Given the description of an element on the screen output the (x, y) to click on. 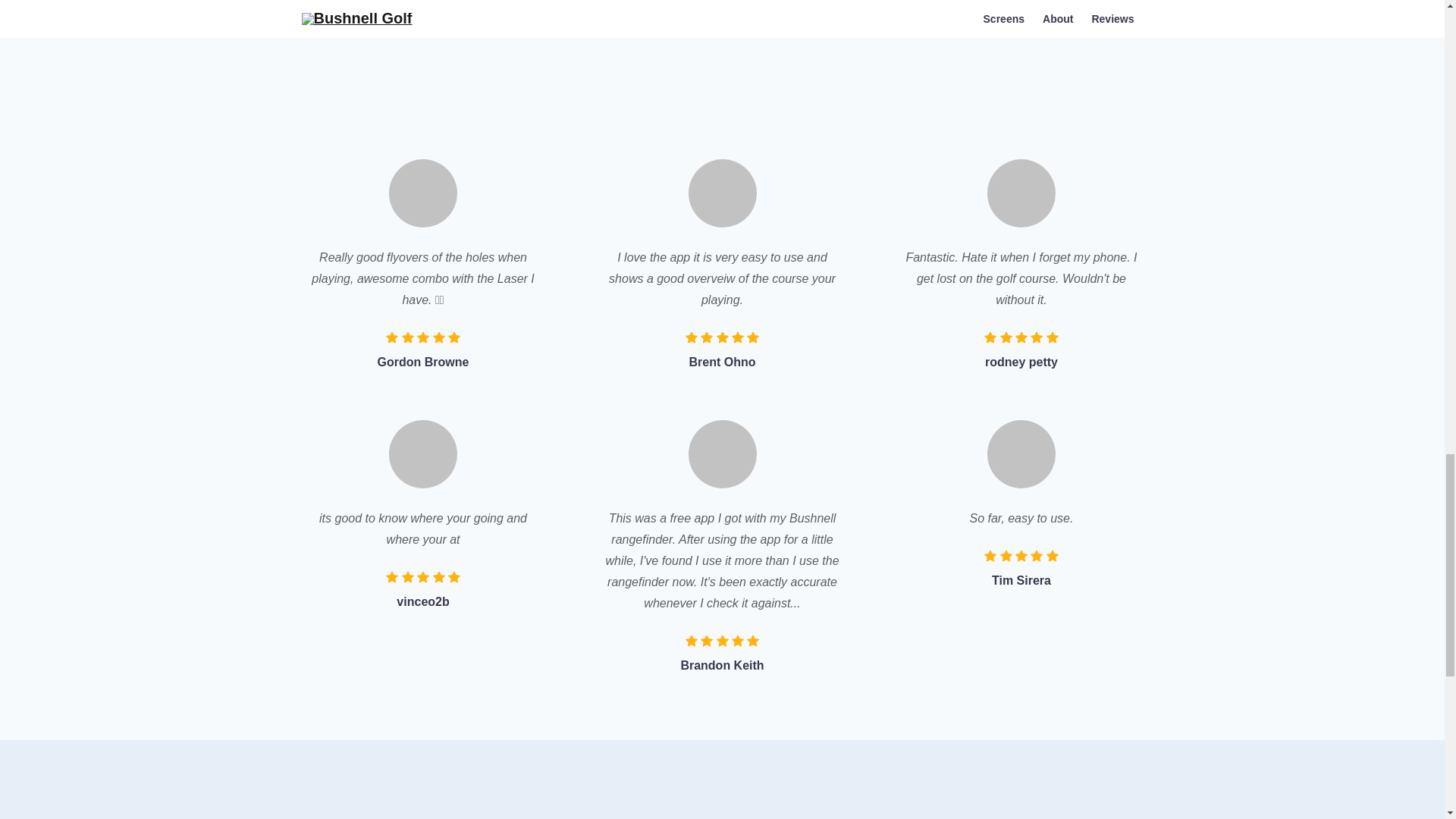
Advertisement (721, 56)
